Given the description of an element on the screen output the (x, y) to click on. 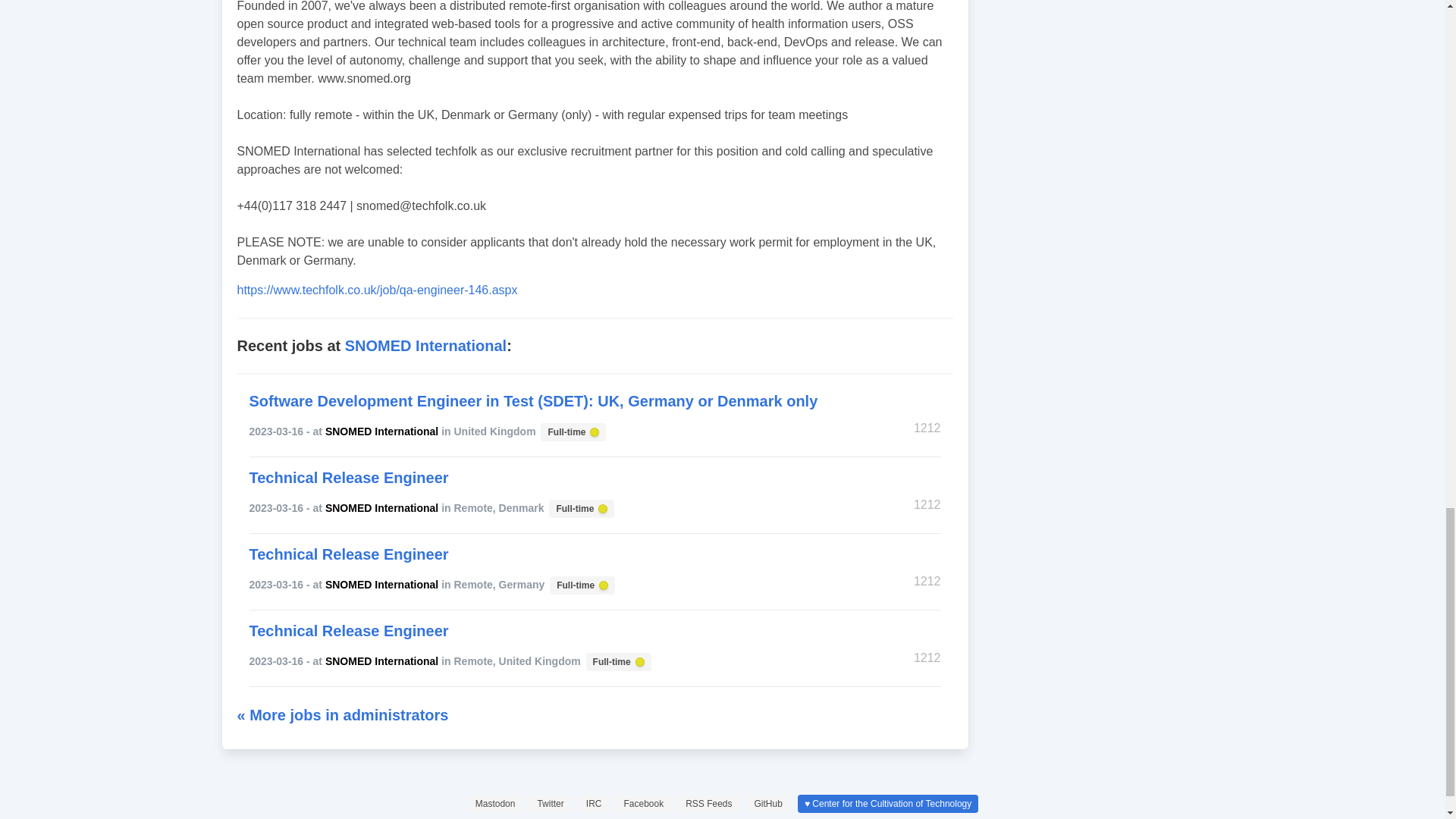
SNOMED International (381, 508)
Technical Release Engineer (348, 630)
SNOMED International (381, 584)
SNOMED International (580, 508)
SNOMED International (381, 431)
SNOMED International (425, 345)
Technical Release Engineer (381, 661)
Technical Release Engineer (616, 661)
